Given the description of an element on the screen output the (x, y) to click on. 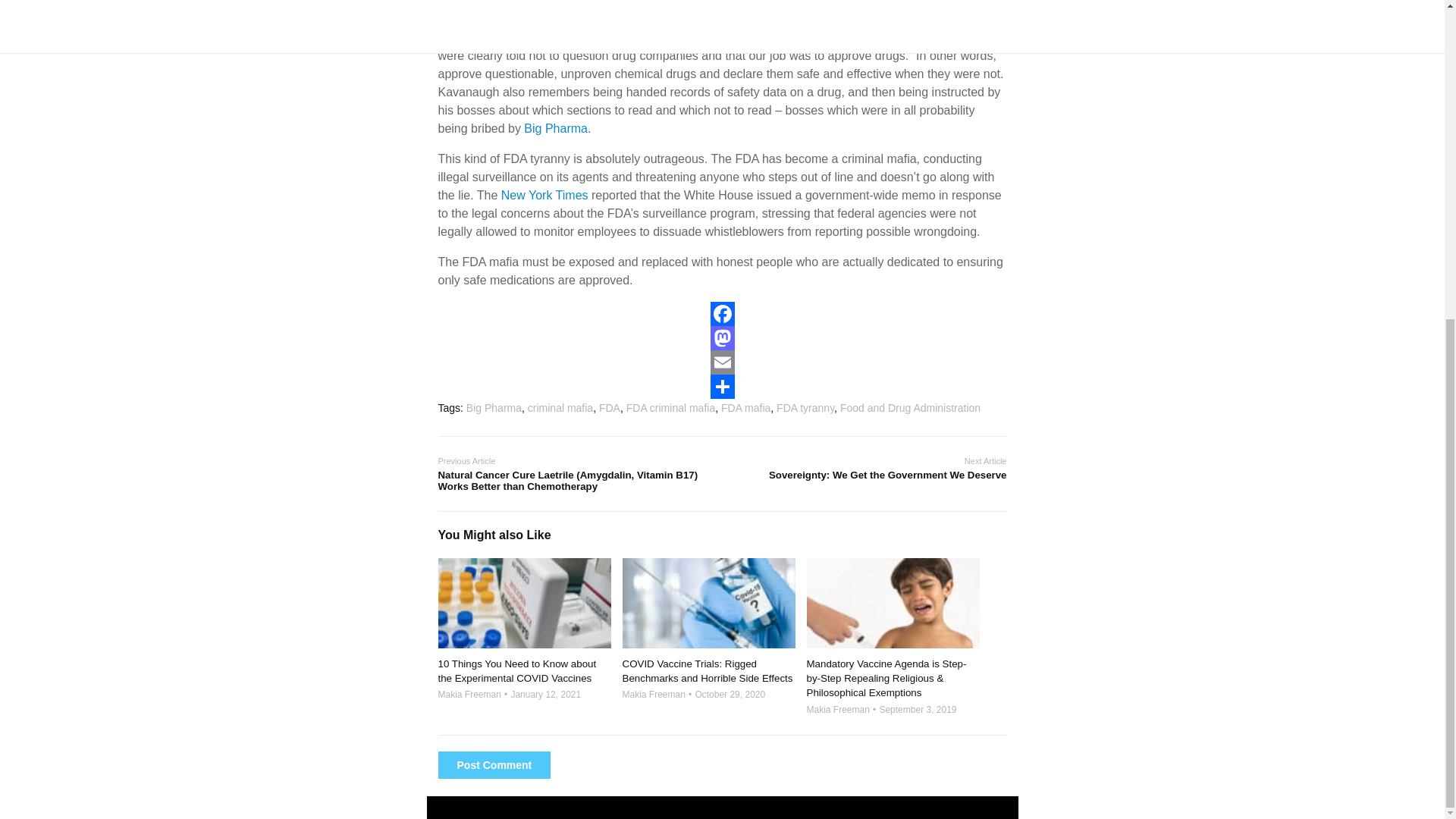
Mastodon (722, 337)
Food and Drug Administration (909, 408)
FDA tyranny (805, 408)
criminal mafia (559, 408)
FDA mafia (745, 408)
Big Pharma (836, 19)
Facebook (722, 313)
Big Pharma (556, 128)
Makia Freeman (652, 694)
Big Pharma (716, 3)
Email (722, 362)
FDA (609, 408)
New York Times (544, 195)
